Given the description of an element on the screen output the (x, y) to click on. 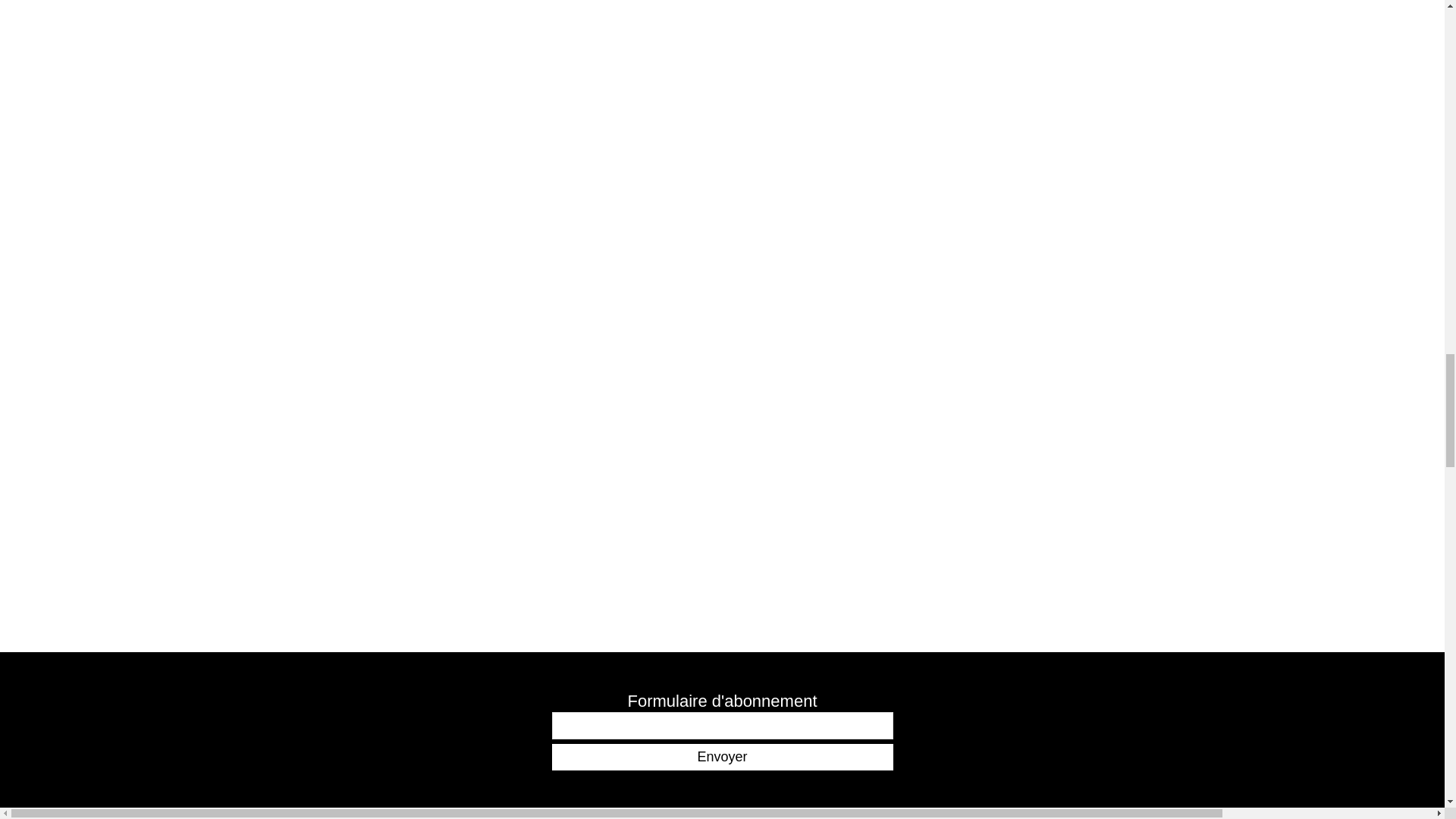
Envoyer (722, 756)
